Given the description of an element on the screen output the (x, y) to click on. 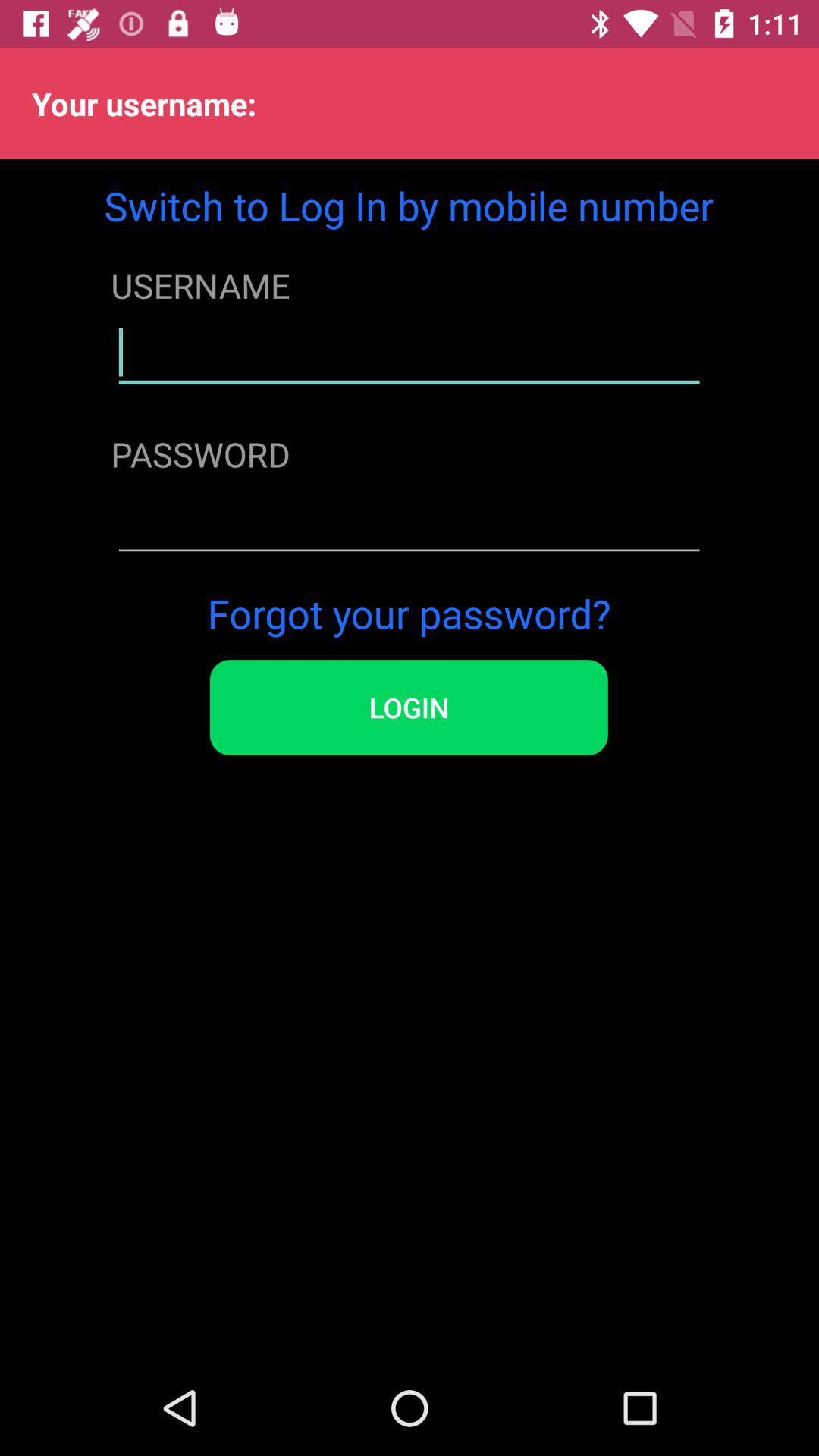
open item below forgot your password? item (408, 707)
